Given the description of an element on the screen output the (x, y) to click on. 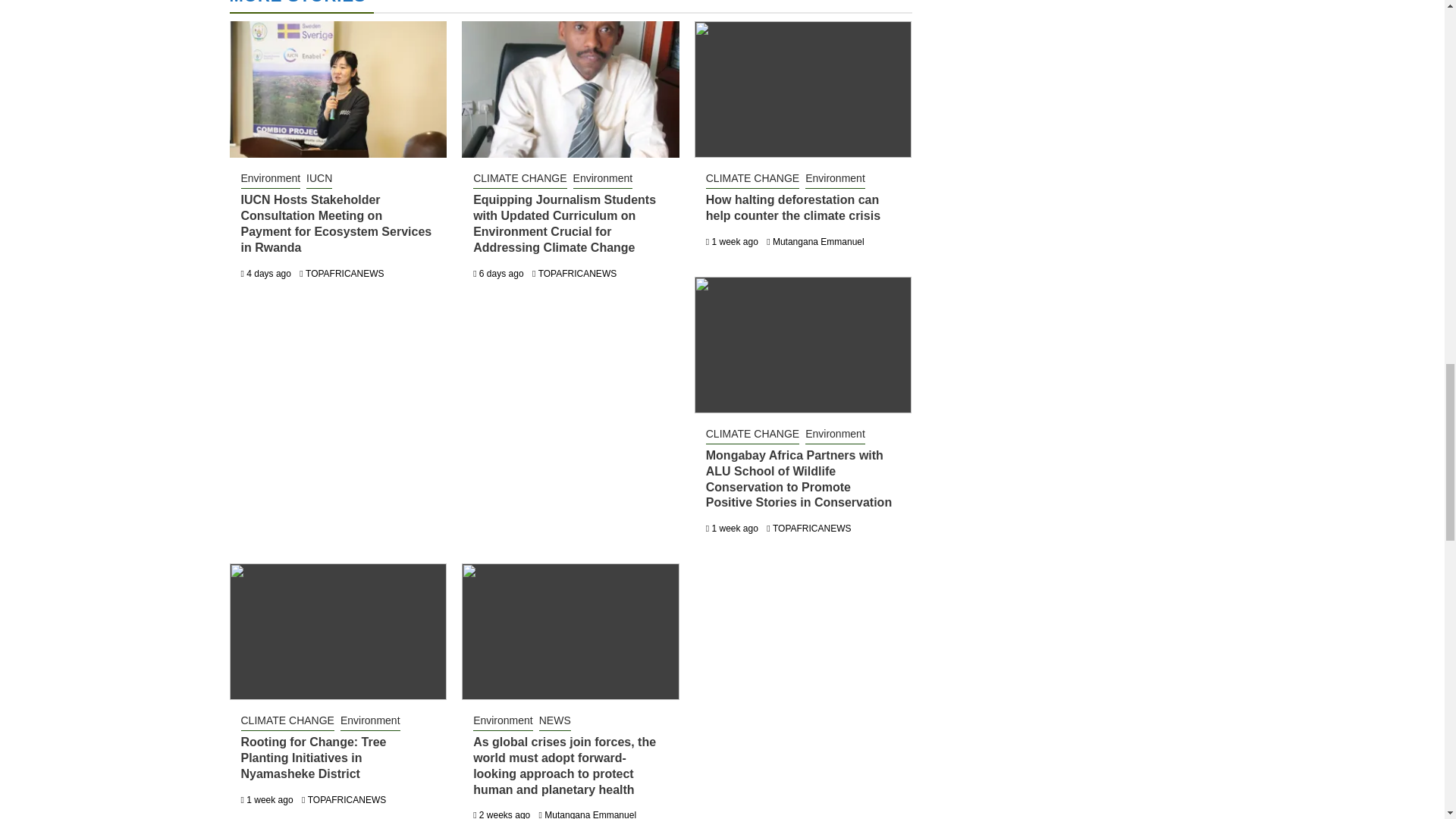
Mutangana Emmanuel (818, 241)
TOPAFRICANEWS (344, 273)
Environment (834, 179)
IUCN (318, 179)
TOPAFRICANEWS (577, 273)
Environment (271, 179)
CLIMATE CHANGE (752, 179)
Environment (603, 179)
CLIMATE CHANGE (519, 179)
